Given the description of an element on the screen output the (x, y) to click on. 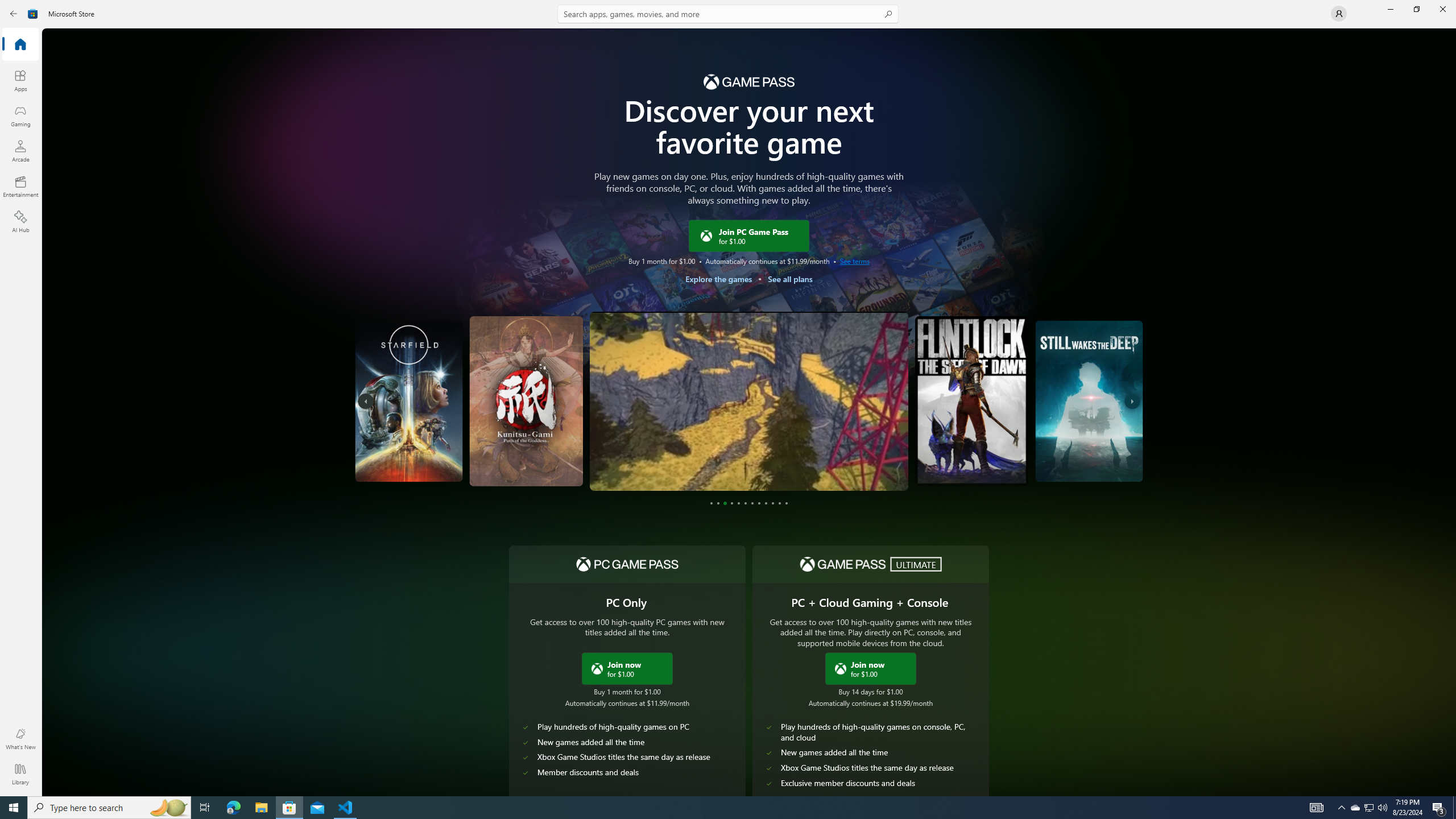
Starfield (453, 401)
Still Wakes the Deep (994, 453)
Dungeons Of Hinterberg (652, 460)
AutomationID: GamePassLogoImage (748, 81)
Flintlock: The Siege of Dawn (887, 456)
Rolling Hills: Make Sushi, Make Friends (1107, 451)
Page 10 (773, 503)
Rolling Hills: Make Sushi, Make Friends (1105, 401)
Play Trailer (1102, 466)
Page 3 (725, 503)
Still Wakes the Deep (1044, 401)
